Given the description of an element on the screen output the (x, y) to click on. 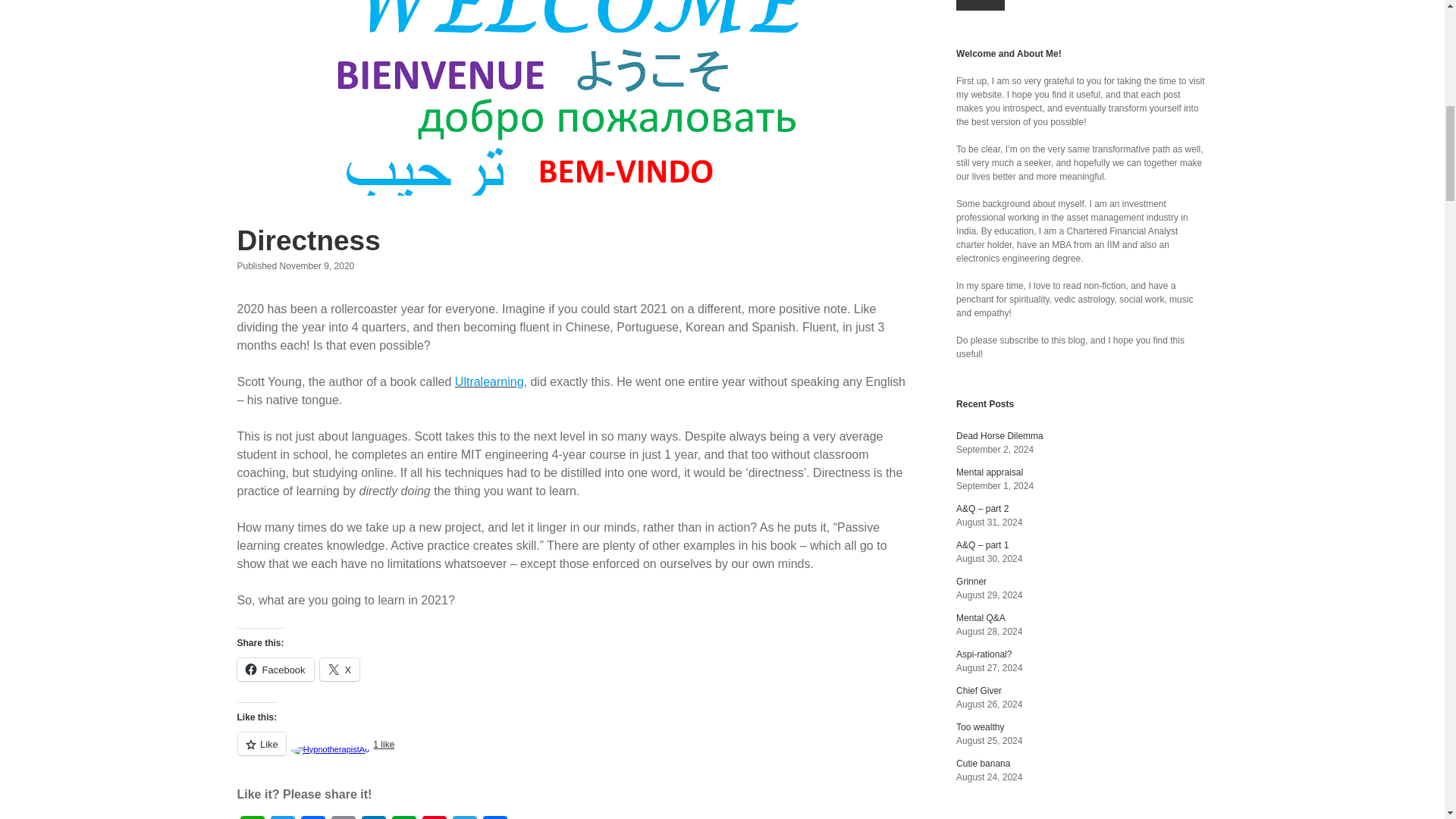
Facebook (274, 669)
Twitter (281, 817)
X (339, 669)
Email (342, 817)
Pinterest (433, 817)
Twitter (281, 817)
Click to share on Facebook (274, 669)
Like or Reblog (570, 752)
Telegram (463, 817)
LinkedIn (373, 817)
